Given the description of an element on the screen output the (x, y) to click on. 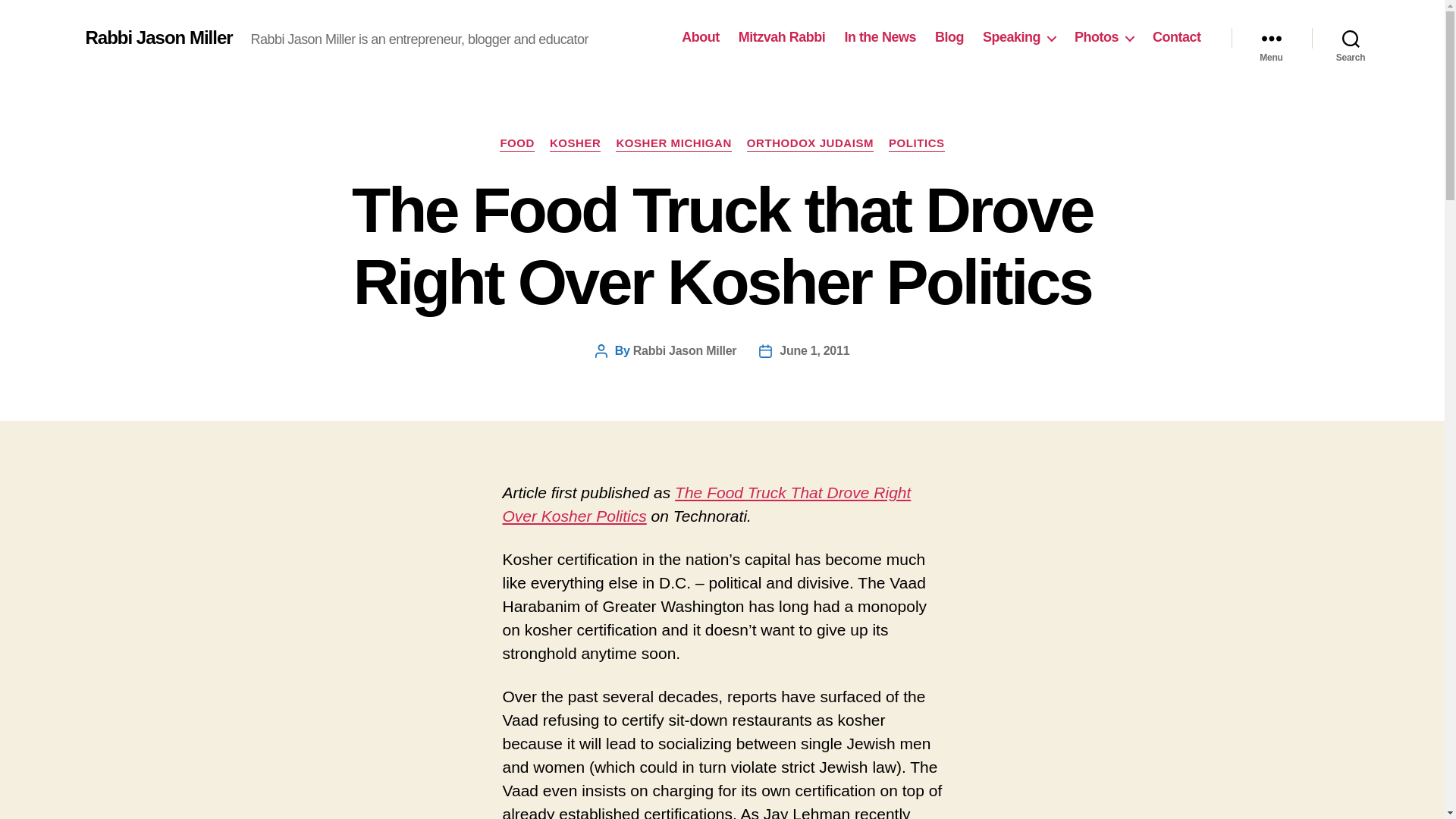
Menu (1271, 37)
About (700, 37)
Search (1350, 37)
Mitzvah Rabbi (781, 37)
In the News (879, 37)
Speaking (1018, 37)
Rabbi Jason Miller (157, 37)
Blog (948, 37)
Photos (1104, 37)
Contact (1177, 37)
